Given the description of an element on the screen output the (x, y) to click on. 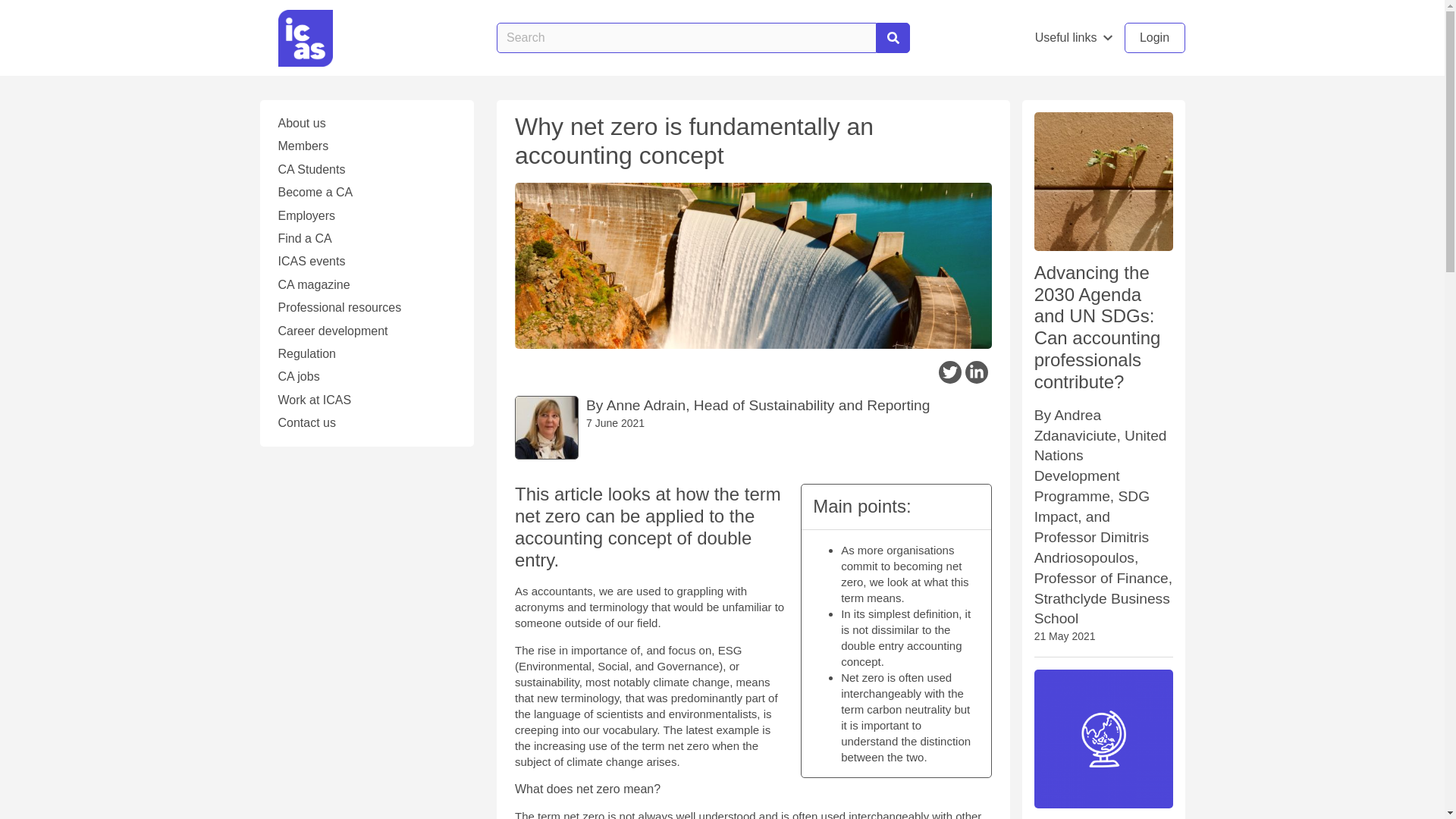
ICAS (305, 37)
CA Students (366, 169)
Login (1154, 37)
Search (893, 37)
Members (366, 146)
About us (366, 123)
Useful links (1073, 37)
